Given the description of an element on the screen output the (x, y) to click on. 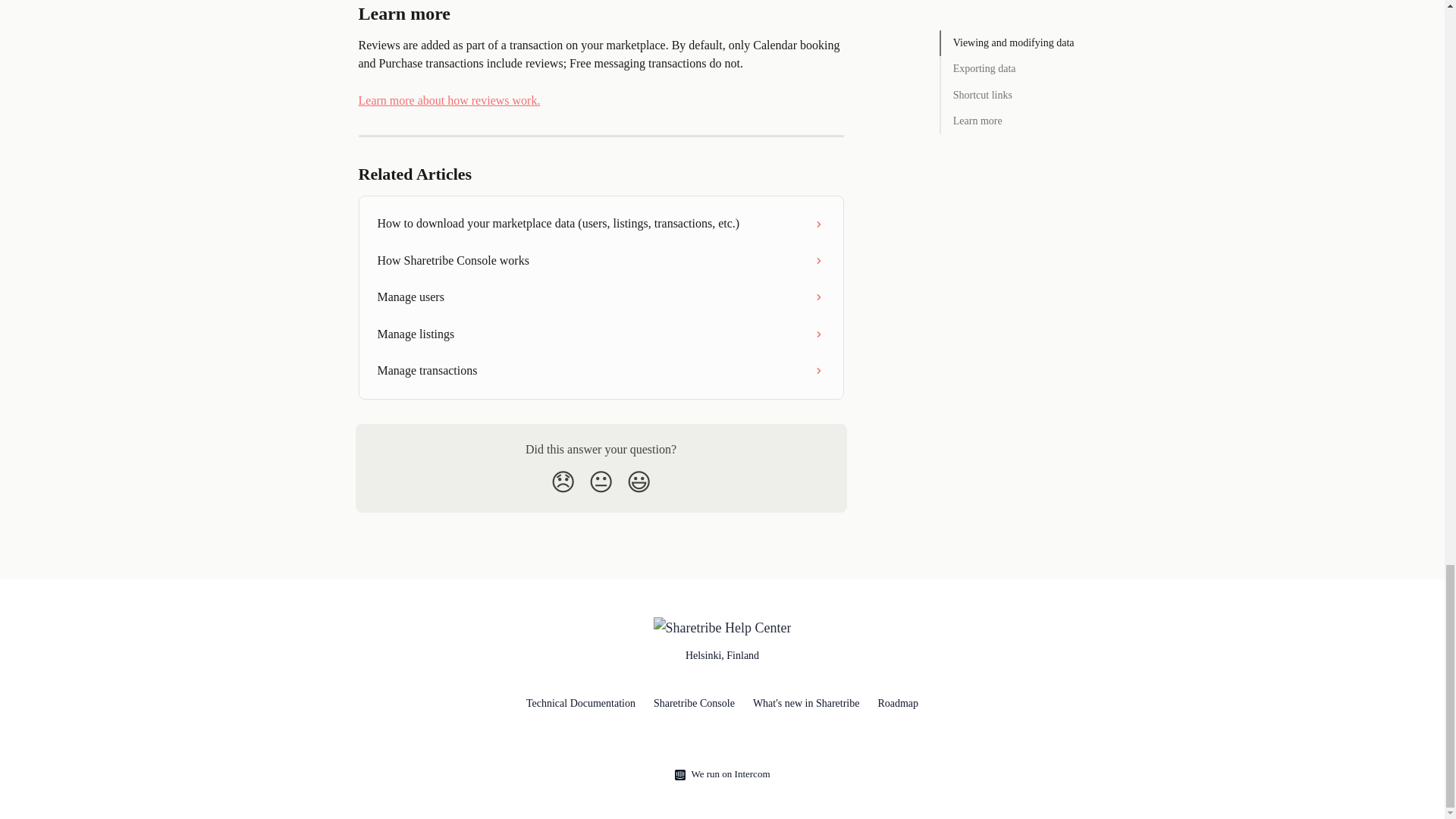
Roadmap (897, 703)
Smiley (638, 482)
How Sharetribe Console works (601, 260)
Neutral (600, 482)
Technical Documentation (579, 703)
Manage listings (601, 334)
Manage users (601, 297)
What's new in Sharetribe (806, 703)
Sharetribe Console (694, 703)
Learn more about how reviews work. (449, 100)
Manage transactions (601, 370)
Disappointed (562, 482)
